Given the description of an element on the screen output the (x, y) to click on. 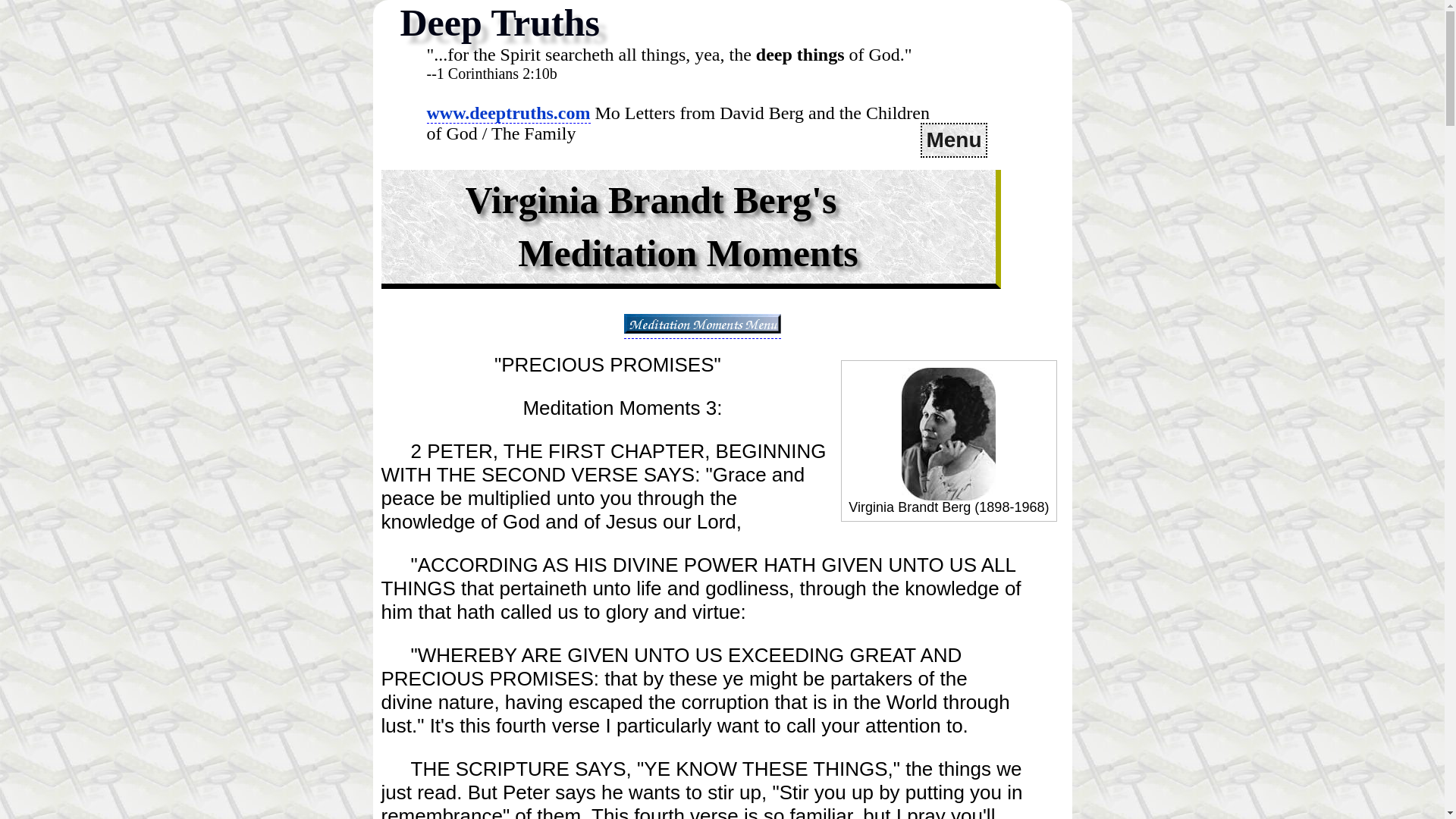
www.deeptruths.com (507, 113)
Deep Truths (499, 22)
Menu (953, 140)
